Given the description of an element on the screen output the (x, y) to click on. 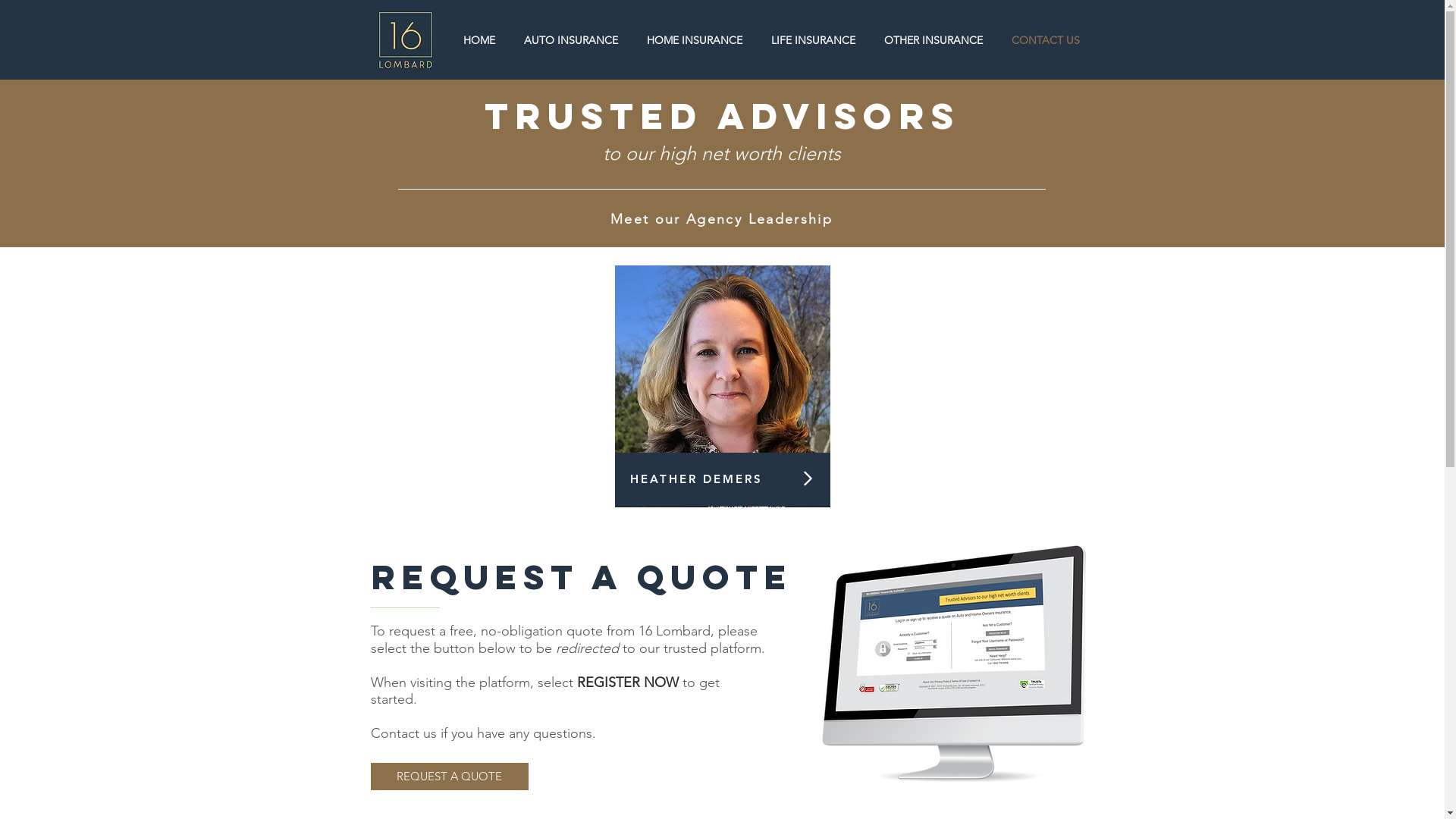
REQUEST A QUOTE Element type: text (448, 776)
AUTO INSURANCE Element type: text (570, 40)
REGISTER NOW Element type: text (628, 681)
HOME Element type: text (478, 40)
OTHER INSURANCE Element type: text (932, 40)
LIFE INSURANCE Element type: text (812, 40)
CONTACT US Element type: text (1044, 40)
Request a Quote Element type: text (581, 576)
Select here to visit the portal and recieve a quoe Element type: hover (953, 663)
HOME INSURANCE Element type: text (694, 40)
